Given the description of an element on the screen output the (x, y) to click on. 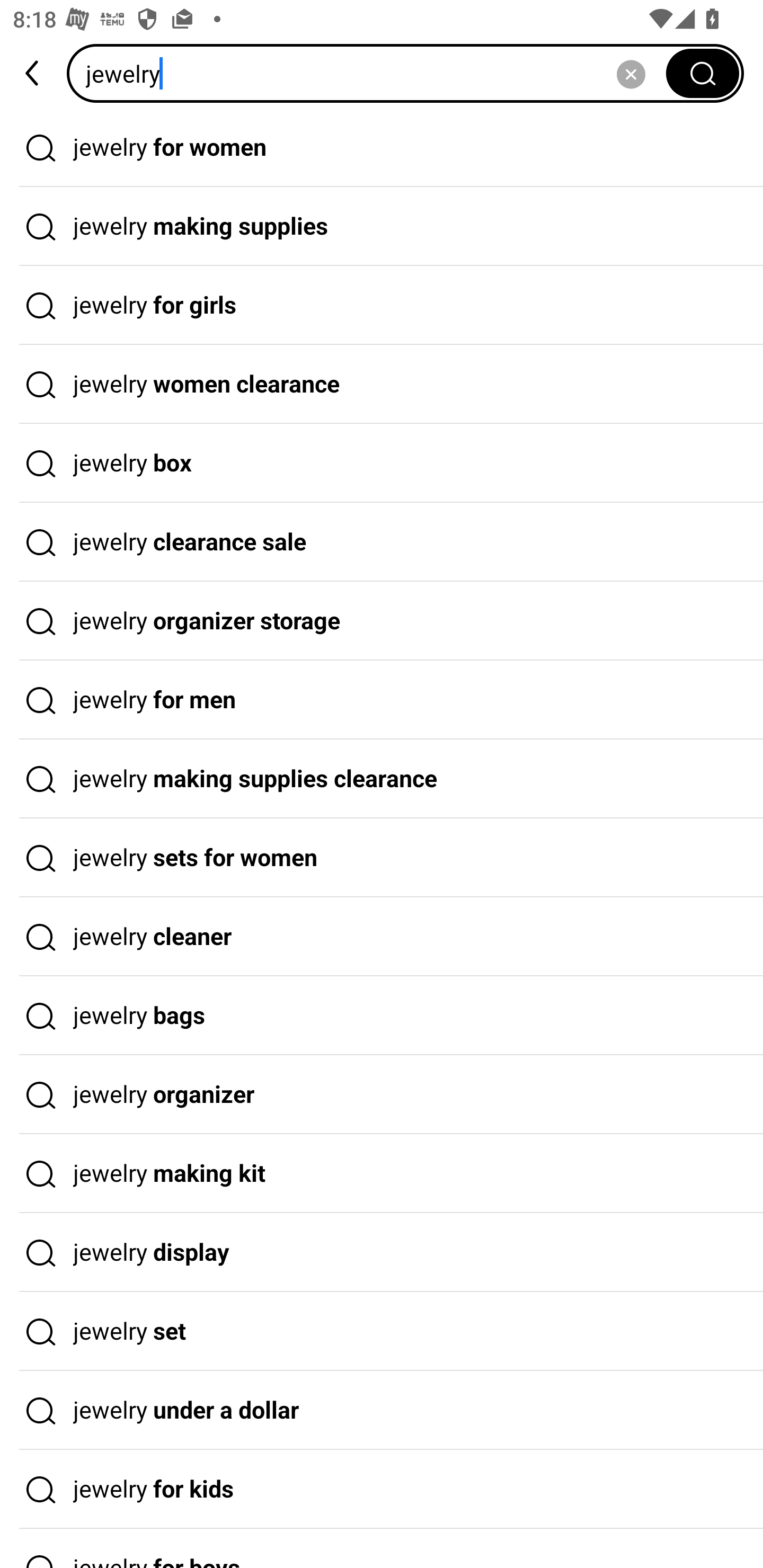
back (33, 72)
jewelry (372, 73)
Delete search history (630, 73)
jewelry for women (381, 147)
jewelry making supplies (381, 226)
jewelry for girls (381, 305)
jewelry women clearance (381, 383)
jewelry box (381, 463)
jewelry clearance sale (381, 542)
jewelry organizer storage (381, 620)
jewelry for men (381, 700)
jewelry making supplies clearance (381, 779)
jewelry sets for women (381, 857)
jewelry cleaner (381, 936)
jewelry bags (381, 1015)
jewelry organizer (381, 1094)
jewelry making kit (381, 1173)
jewelry display (381, 1252)
jewelry set (381, 1331)
